Given the description of an element on the screen output the (x, y) to click on. 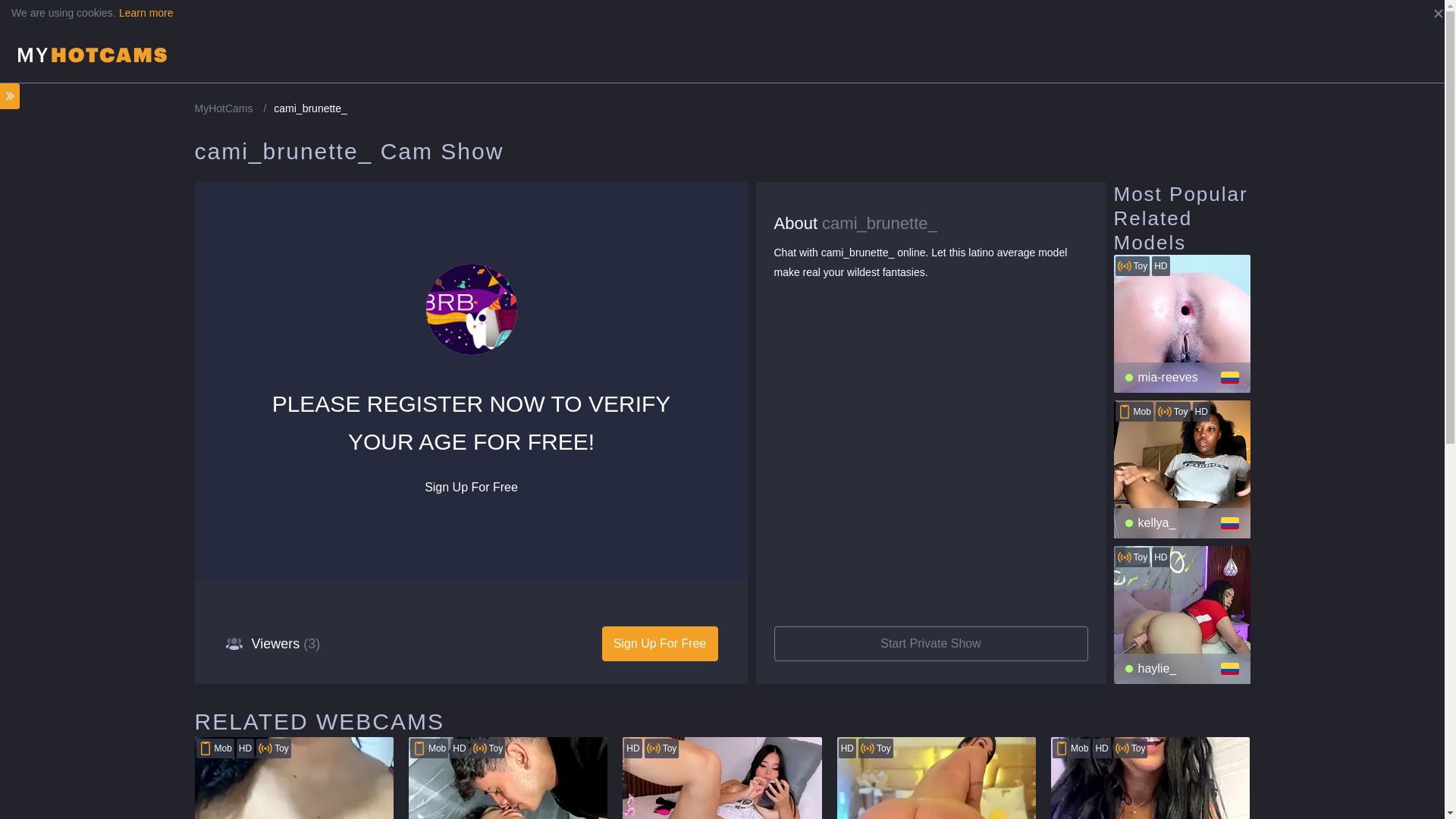
Learn more (146, 12)
